Given the description of an element on the screen output the (x, y) to click on. 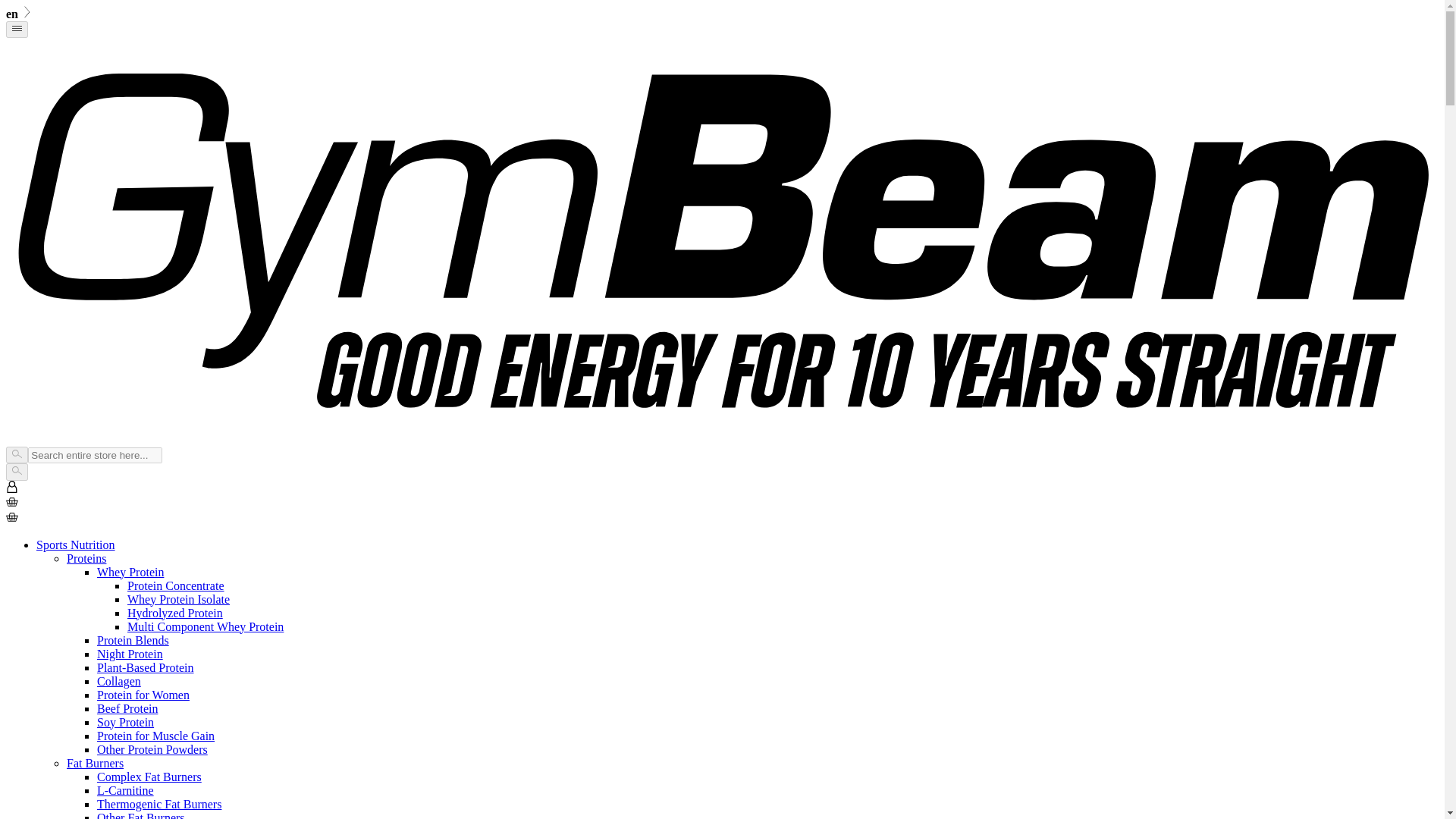
Protein for Muscle Gain (155, 735)
Protein for Women (143, 694)
Proteins (86, 558)
Other Protein Powders (152, 748)
Multi Component Whey Protein (205, 626)
Sports Nutrition (75, 544)
Whey Protein Isolate (179, 599)
L-Carnitine (125, 789)
Other Fat Burners (140, 815)
Collagen (119, 680)
